Given the description of an element on the screen output the (x, y) to click on. 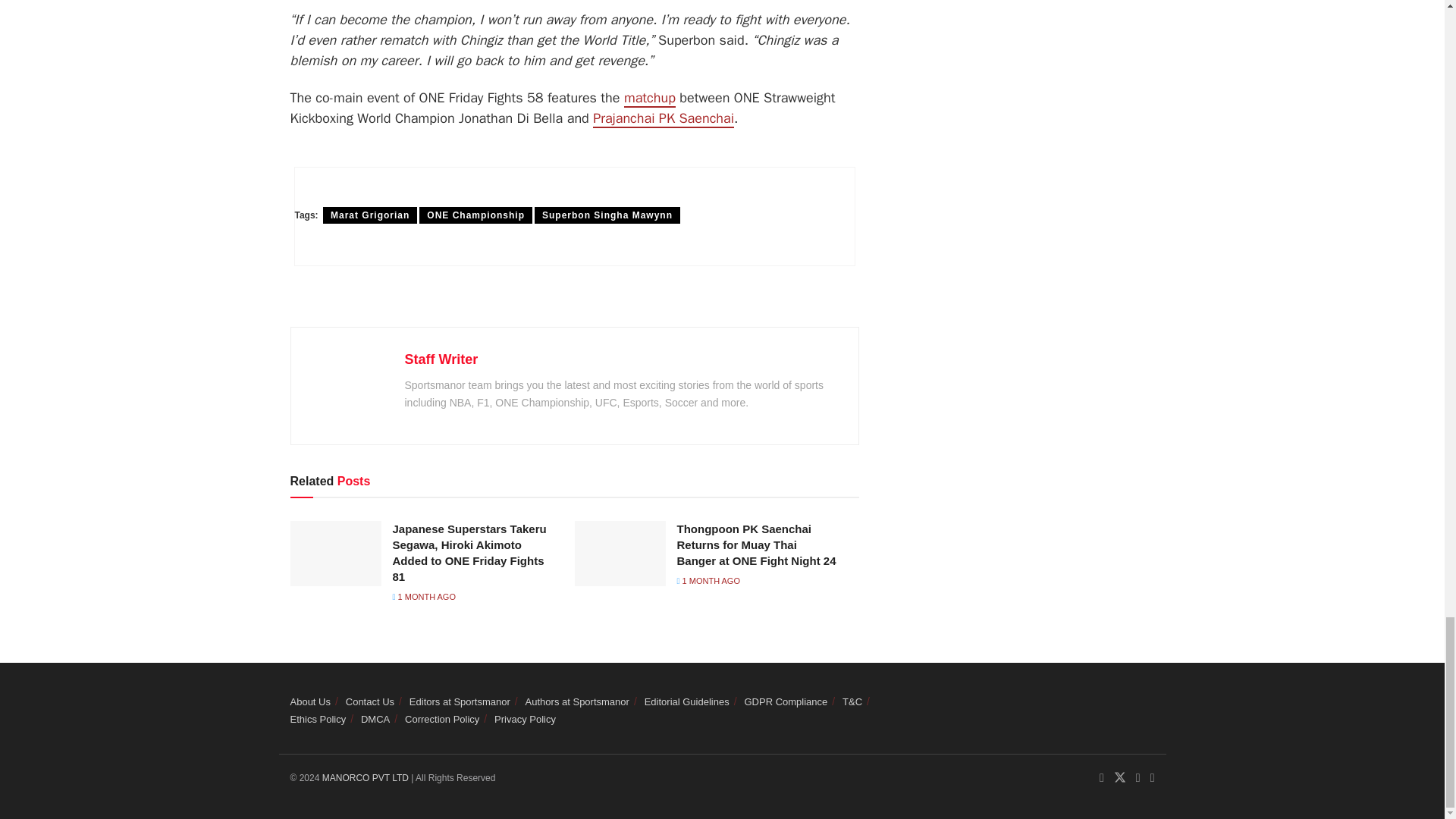
Sportsmanor (366, 777)
